Given the description of an element on the screen output the (x, y) to click on. 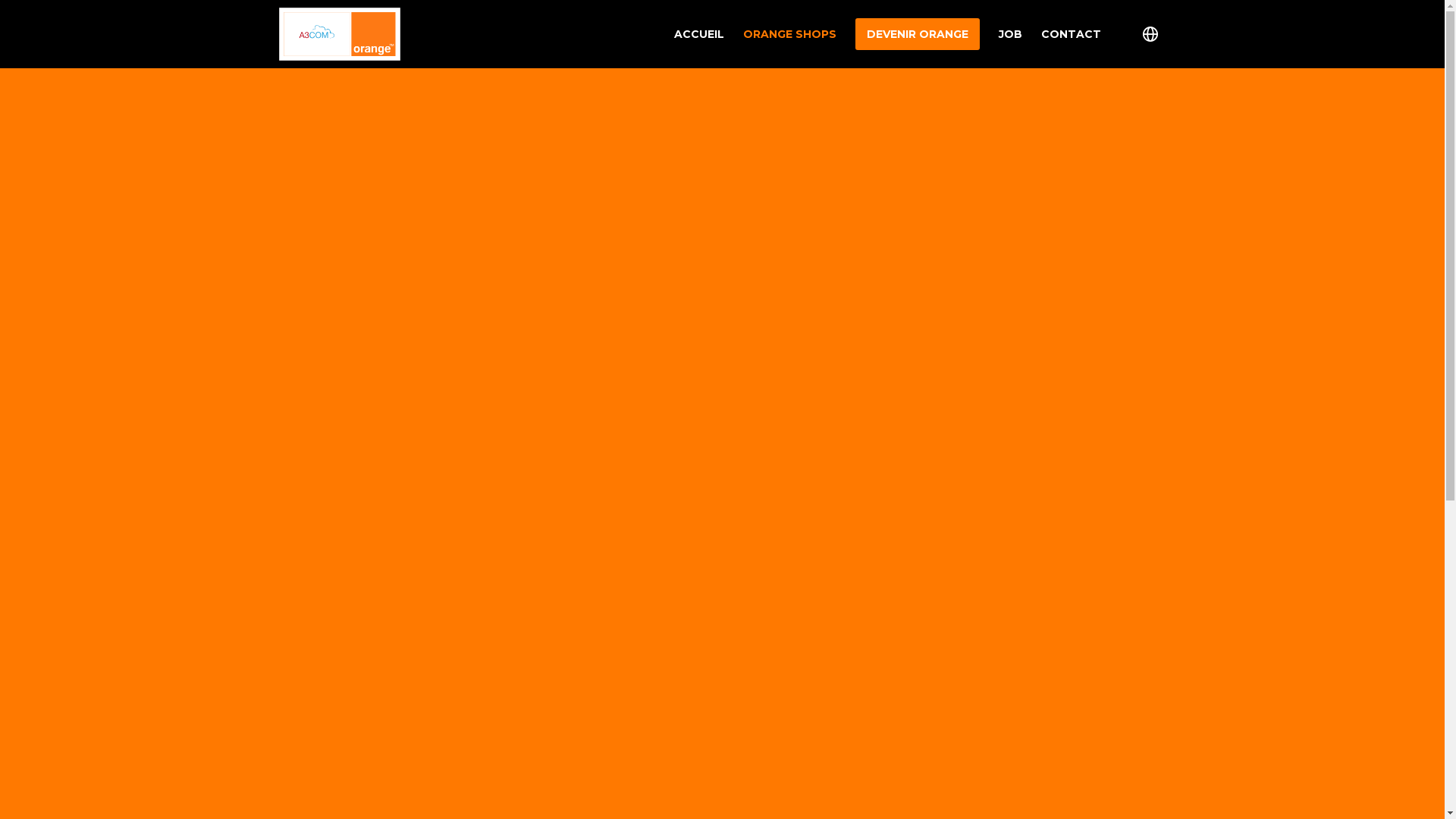
JOB Element type: text (1000, 34)
DEVENIR ORANGE Element type: text (907, 34)
ACCUEIL Element type: text (689, 34)
ORANGE SHOPS Element type: text (780, 34)
CONTACT Element type: text (1061, 34)
